Given the description of an element on the screen output the (x, y) to click on. 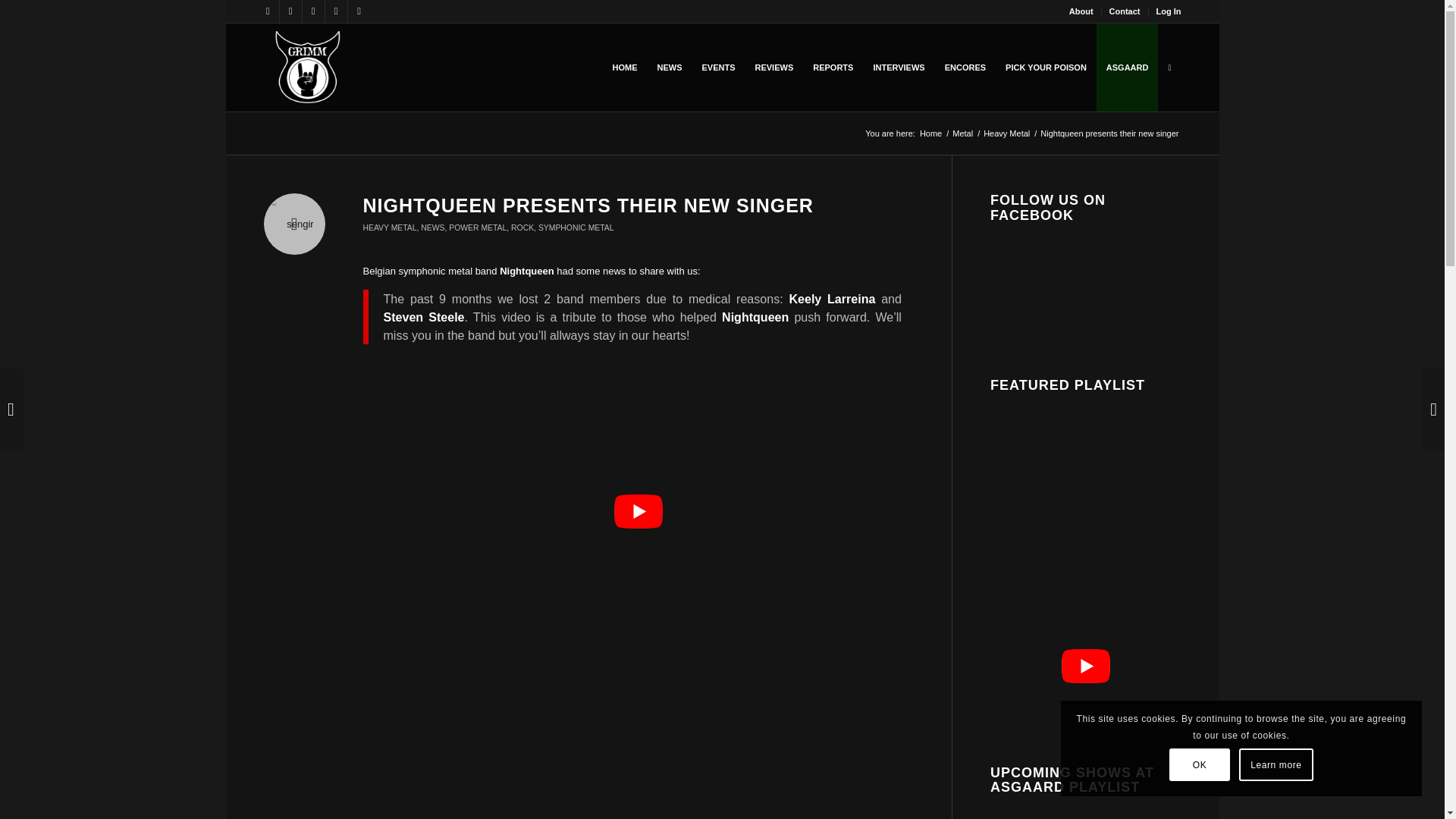
X (290, 11)
Facebook (267, 11)
Youtube (312, 11)
Instagram (335, 11)
Pinterest (358, 11)
